Given the description of an element on the screen output the (x, y) to click on. 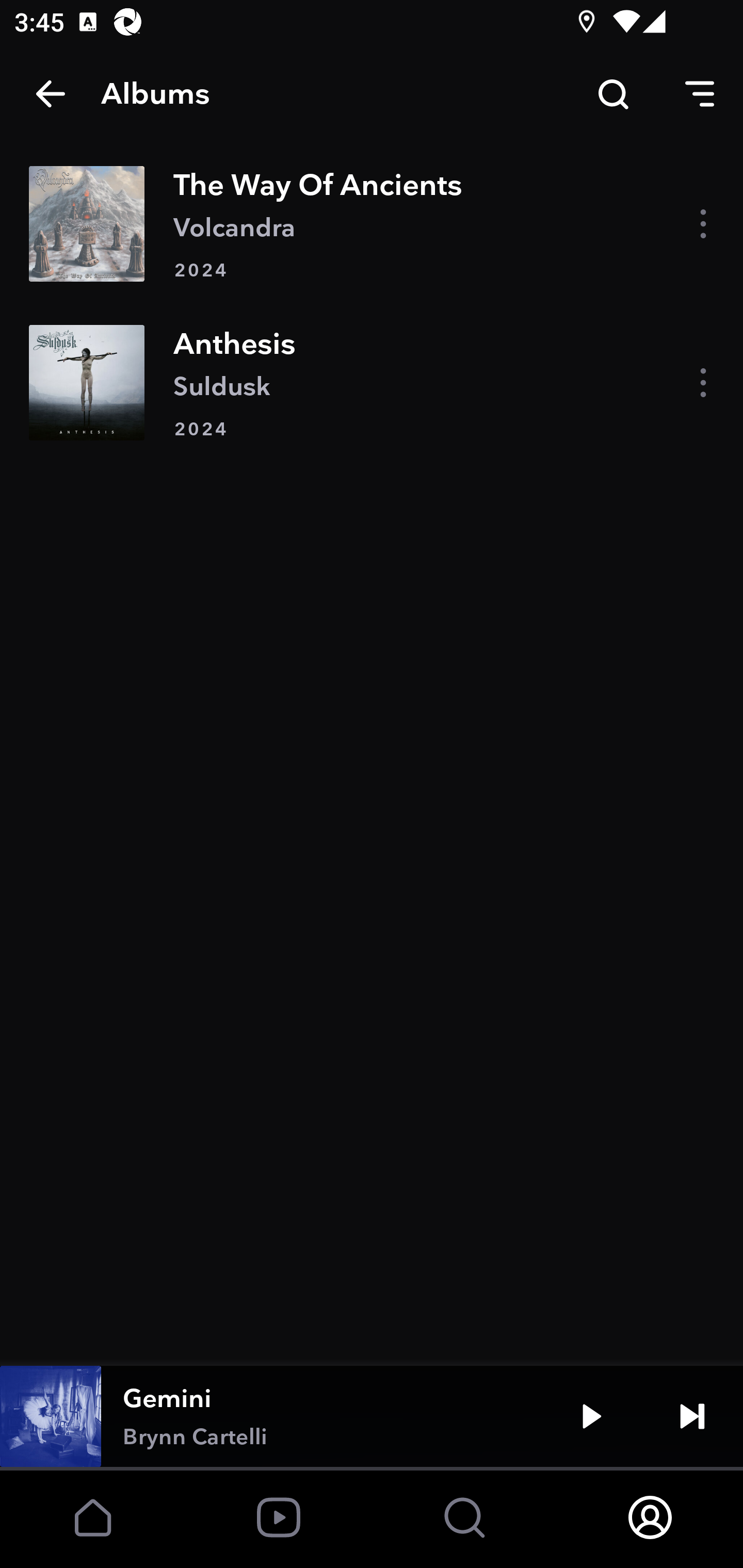
Back (50, 93)
Search (612, 93)
Sorting (699, 93)
The Way Of Ancients Volcandra 2024 (371, 223)
Anthesis Suldusk 2024 (371, 382)
Gemini Brynn Cartelli Play (371, 1416)
Play (590, 1416)
